Given the description of an element on the screen output the (x, y) to click on. 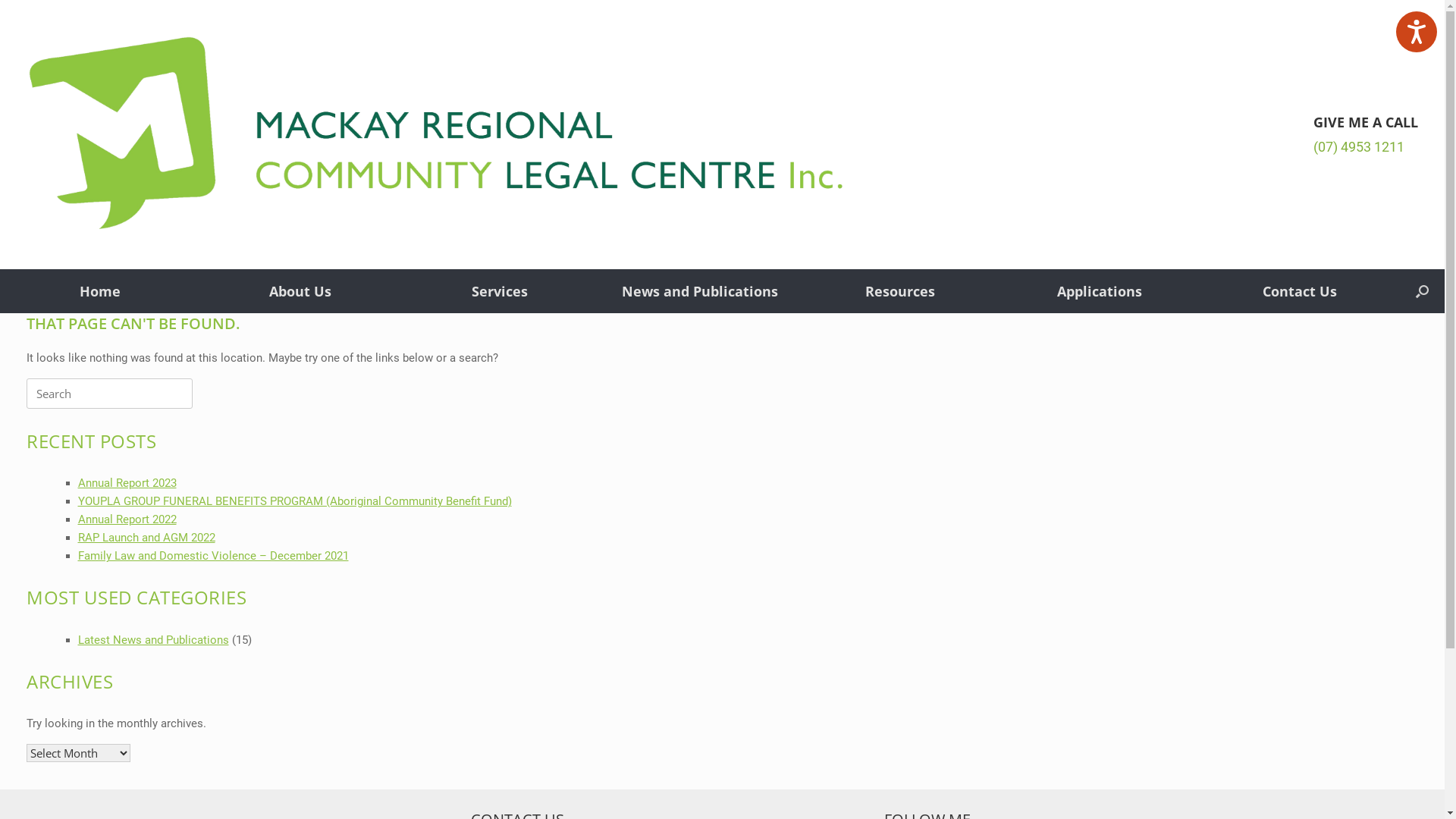
Mackay Regional Community Legal Centre Inc. Element type: hover (435, 134)
RAP Launch and AGM 2022 Element type: text (145, 537)
Home Element type: text (100, 291)
Annual Report 2022 Element type: text (126, 519)
Latest News and Publications Element type: text (152, 639)
(07) 4953 1211 Element type: text (1358, 146)
Listen with the ReachDeck Toolbar Element type: hover (1416, 31)
About Us Element type: text (300, 291)
Annual Report 2023 Element type: text (126, 482)
Applications Element type: text (1100, 291)
Contact Us Element type: text (1299, 291)
News and Publications Element type: text (699, 291)
Resources Element type: text (900, 291)
Services Element type: text (499, 291)
